Given the description of an element on the screen output the (x, y) to click on. 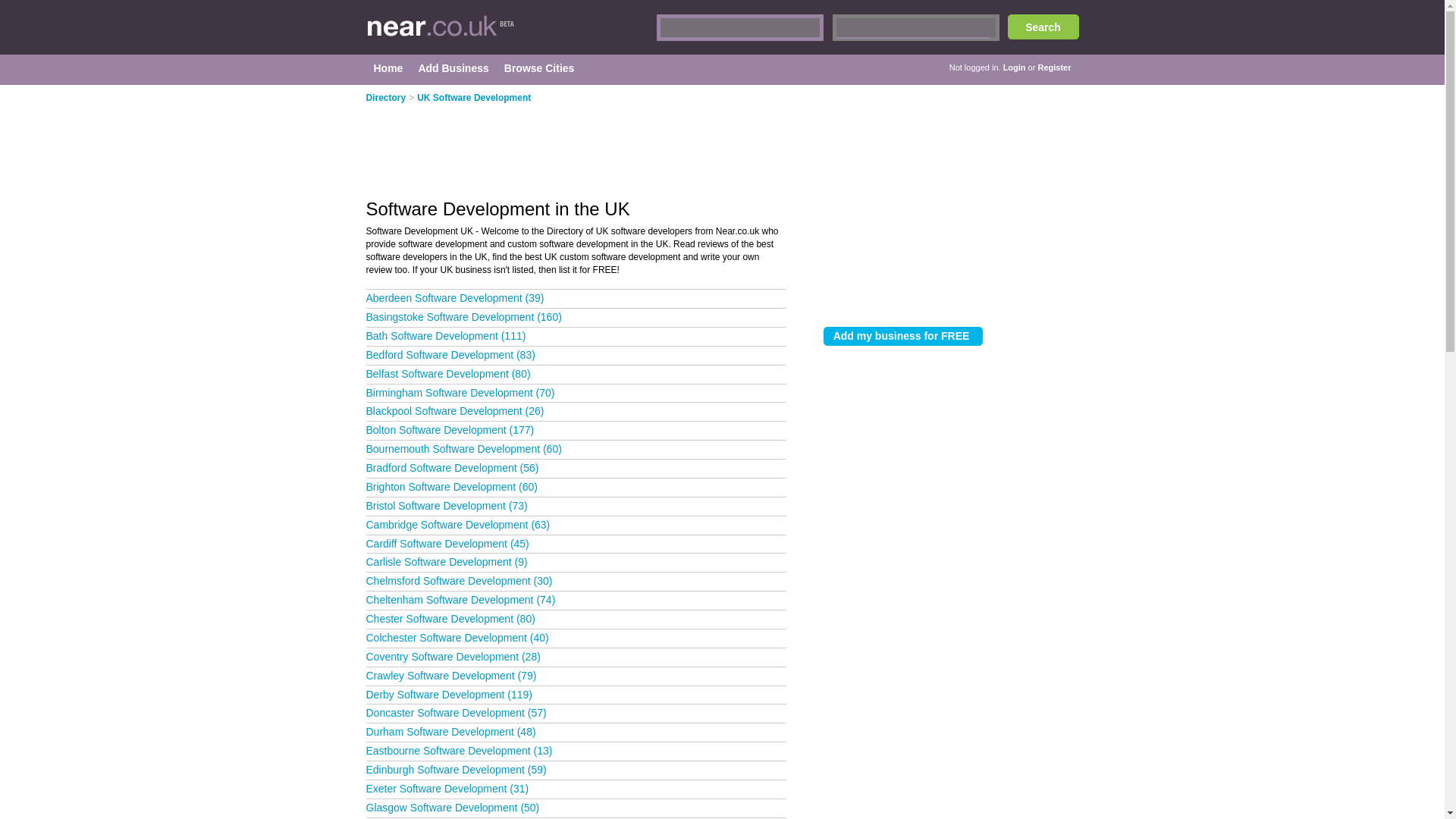
Directory (385, 97)
Register (1053, 67)
Login (1014, 67)
Add Business (452, 68)
Home (388, 68)
Near.co.uk (507, 34)
Add my business for FREE (903, 335)
UK Software Development (473, 97)
Advertisement (593, 145)
Search (1042, 26)
Browse Cities (538, 68)
Search (1042, 26)
Advertisement (951, 193)
